Given the description of an element on the screen output the (x, y) to click on. 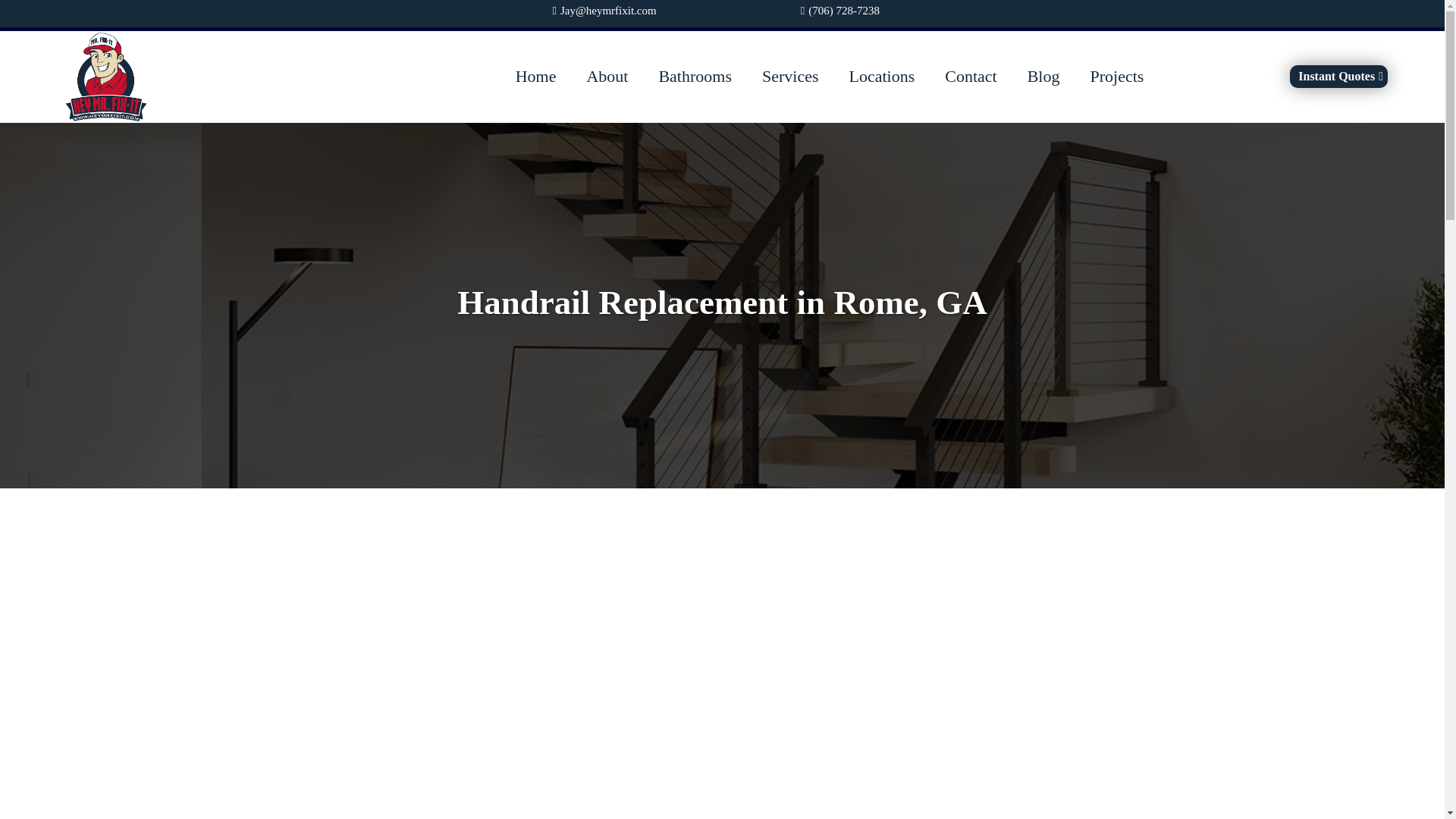
Services (790, 76)
About (606, 76)
Locations (881, 76)
Home (536, 76)
Bathrooms (694, 76)
